Given the description of an element on the screen output the (x, y) to click on. 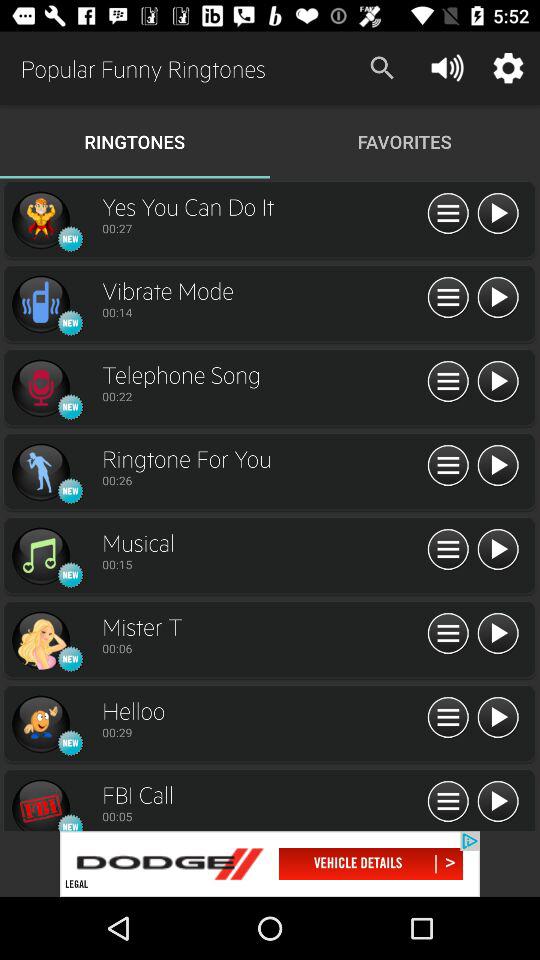
ringtones buttons icons mister t (447, 633)
